Given the description of an element on the screen output the (x, y) to click on. 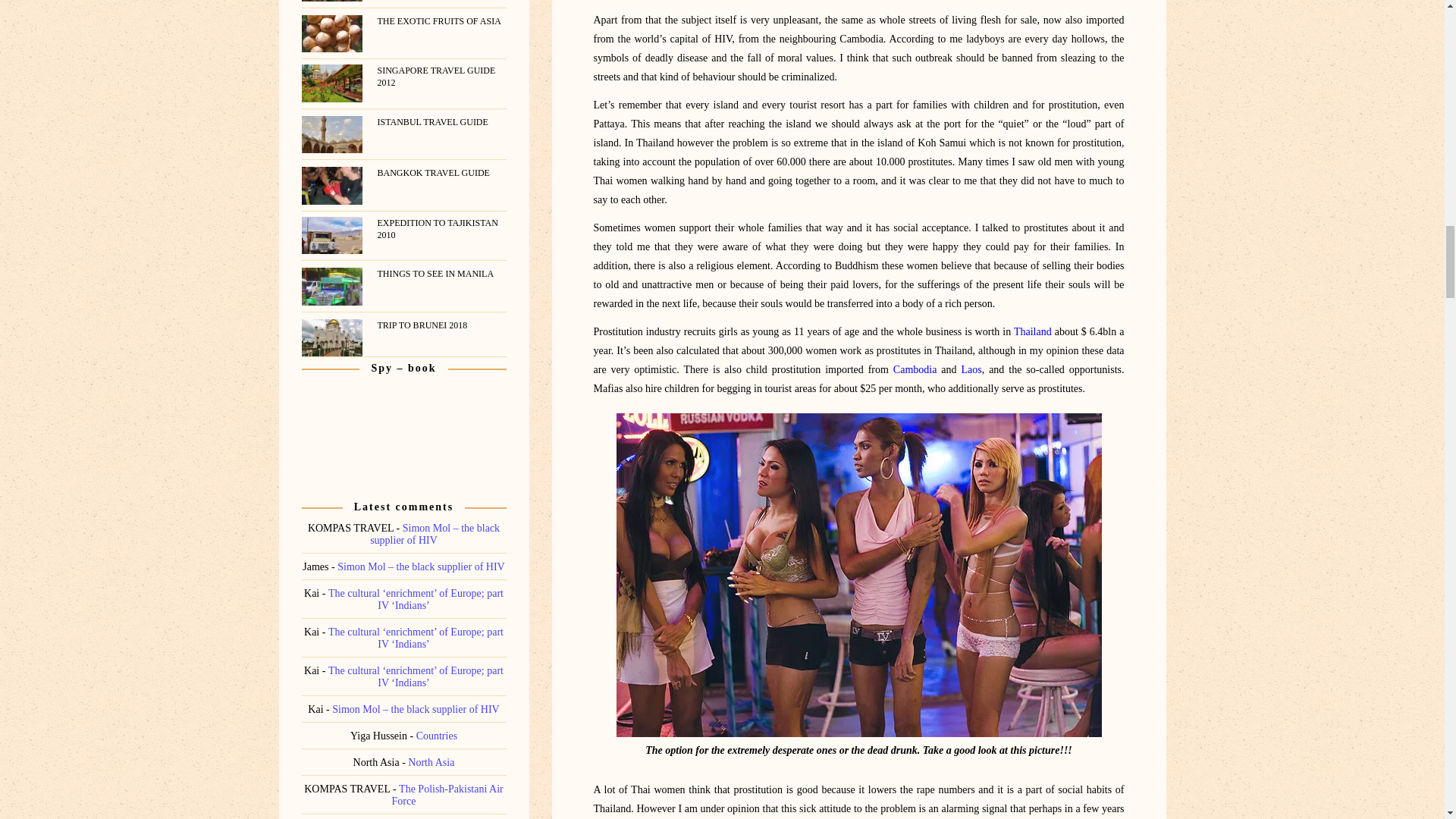
Bangkok travel guide (441, 173)
The exotic fruits of Asia (441, 21)
Expedition to Tajikistan 2010 (441, 228)
Singapore travel guide 2012 (441, 76)
Things to see in Manila (441, 273)
Trip to Brunei 2018 (441, 325)
Istanbul travel guide (441, 121)
